Given the description of an element on the screen output the (x, y) to click on. 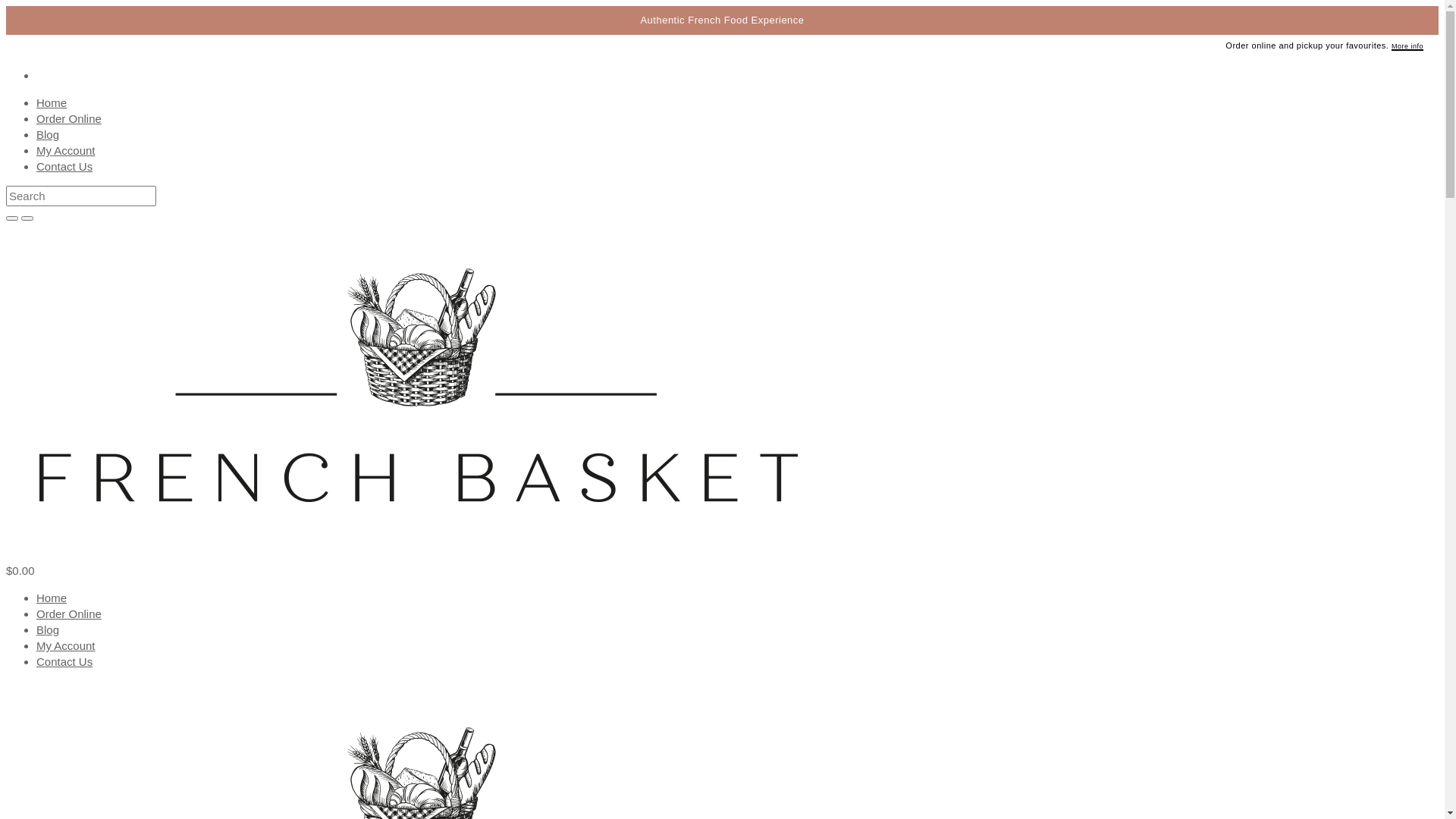
Order Online Element type: text (68, 613)
Order Online Element type: text (68, 118)
Blog Element type: text (47, 629)
My Account Element type: text (65, 645)
Home Element type: text (51, 102)
More info Element type: text (1407, 46)
Contact Us Element type: text (64, 661)
My Account Element type: text (65, 150)
Search Element type: hover (81, 195)
Contact Us Element type: text (64, 166)
Home Element type: text (51, 597)
Blog Element type: text (47, 134)
